Given the description of an element on the screen output the (x, y) to click on. 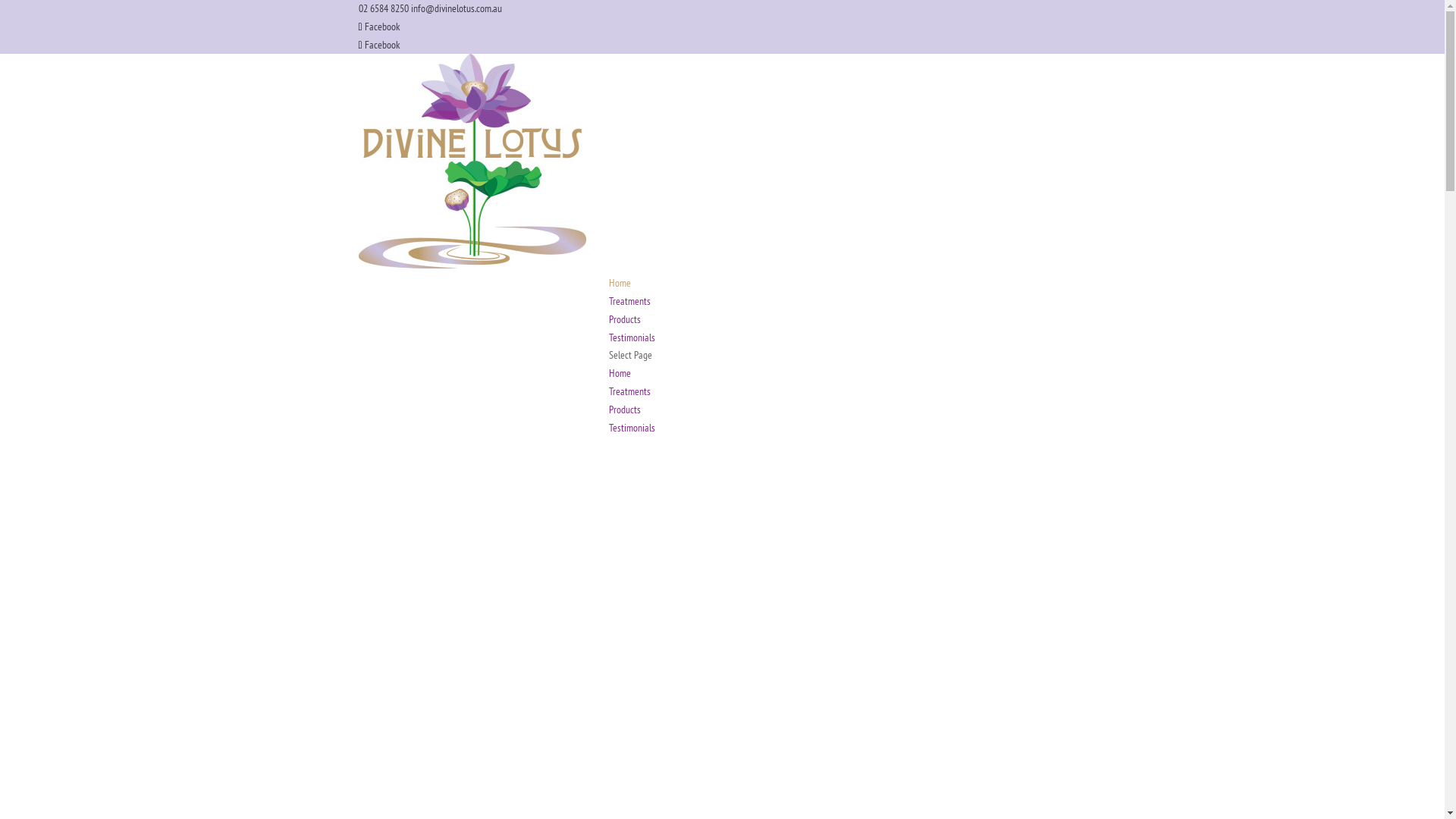
Testimonials Element type: text (631, 337)
info@divinelotus.com.au Element type: text (456, 8)
Products Element type: text (624, 319)
Testimonials Element type: text (631, 427)
Home Element type: text (619, 372)
Treatments Element type: text (628, 300)
Treatments Element type: text (628, 391)
Facebook Element type: text (377, 26)
Facebook Element type: text (377, 44)
Products Element type: text (624, 409)
Home Element type: text (619, 282)
